Given the description of an element on the screen output the (x, y) to click on. 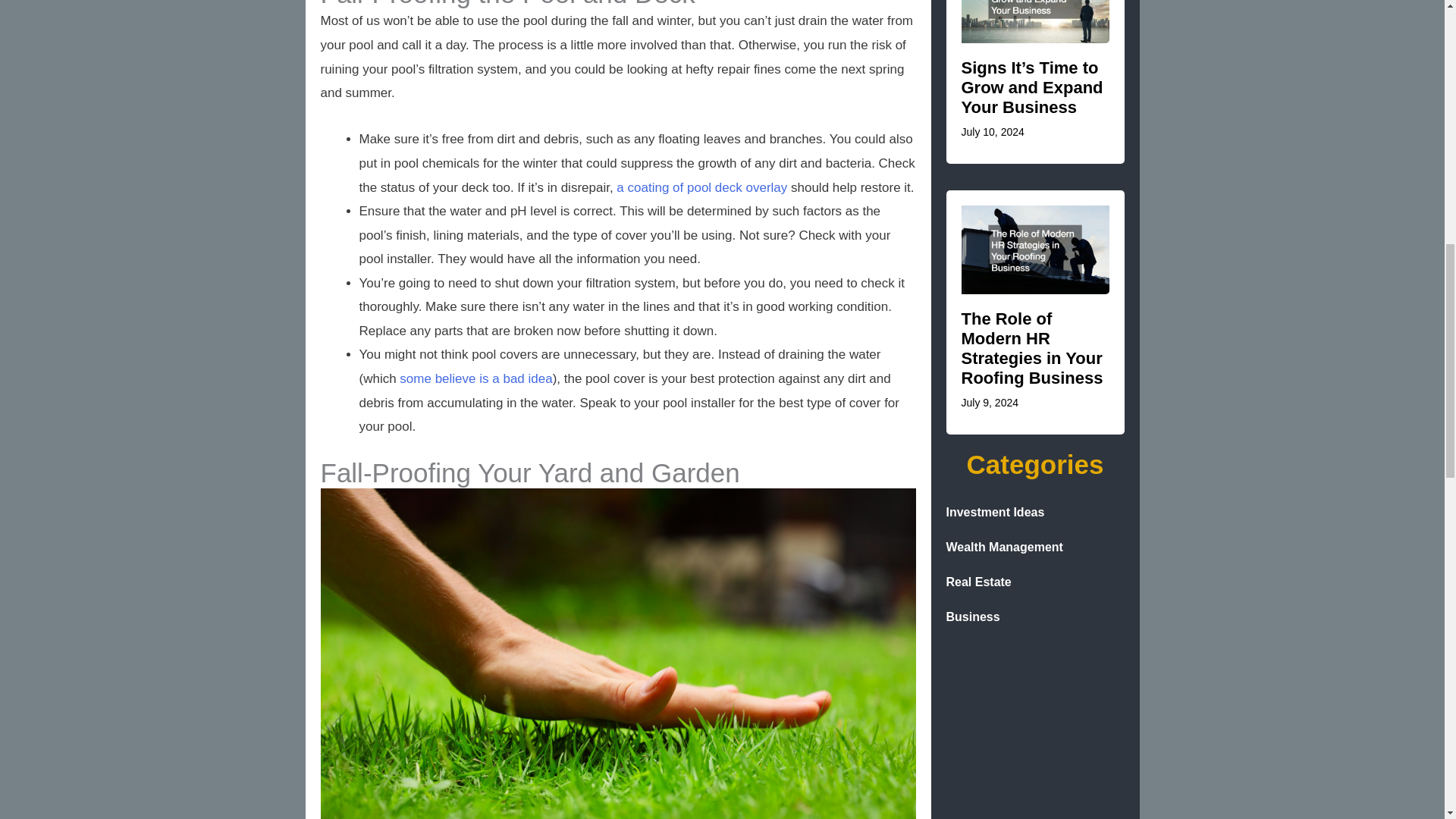
The Role of Modern HR Strategies in Your Roofing Business (1031, 348)
Investment Ideas (1035, 512)
some believe is a bad idea (474, 378)
a coating of pool deck overlay (701, 187)
Real Estate (1035, 582)
Wealth Management (1035, 547)
